Given the description of an element on the screen output the (x, y) to click on. 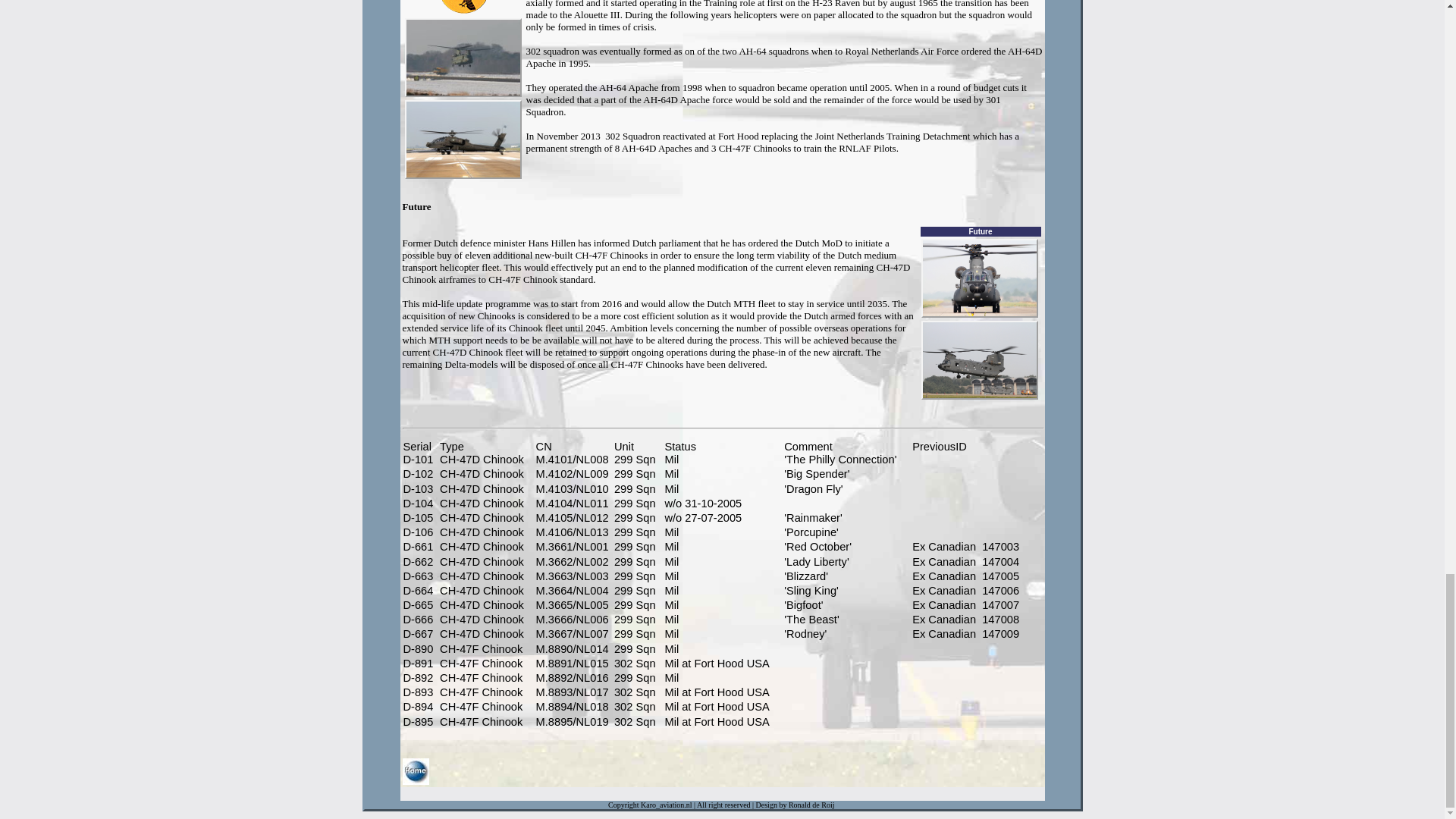
CH-47 Chinook (978, 360)
302 Squadron (464, 7)
CH-47 Chinook (462, 57)
CH-47 Chinook (462, 139)
CH-47 Chinook (978, 278)
